Given the description of an element on the screen output the (x, y) to click on. 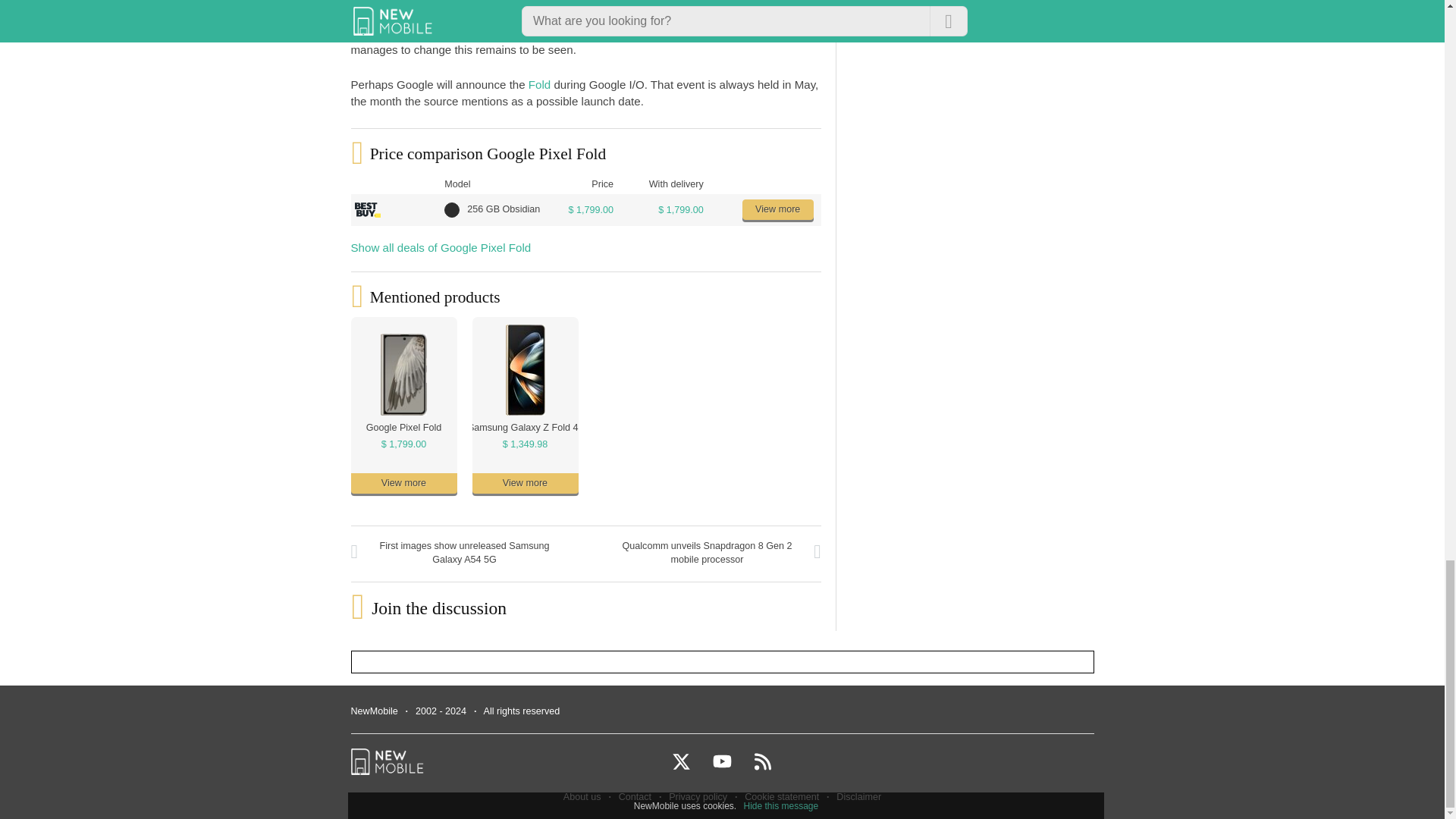
View more (403, 483)
Samsung Galaxy Z Fold 4 (522, 427)
Samsung Galaxy Z Fold 4 (522, 427)
Fold (539, 83)
Google Pixel Fold (403, 427)
Show complete list with prices of Samsung Galaxy Z Fold 4 (525, 443)
First images show unreleased Samsung Galaxy A54 5G (464, 553)
View more (524, 483)
View more (777, 209)
Qualcomm unveils Snapdragon 8 Gen 2 mobile processor (706, 553)
Show complete list with prices of Google Pixel Fold (403, 443)
Show all deals of Google Pixel Fold (440, 246)
Google Pixel Fold (403, 427)
Google Pixel Fold (598, 2)
